Given the description of an element on the screen output the (x, y) to click on. 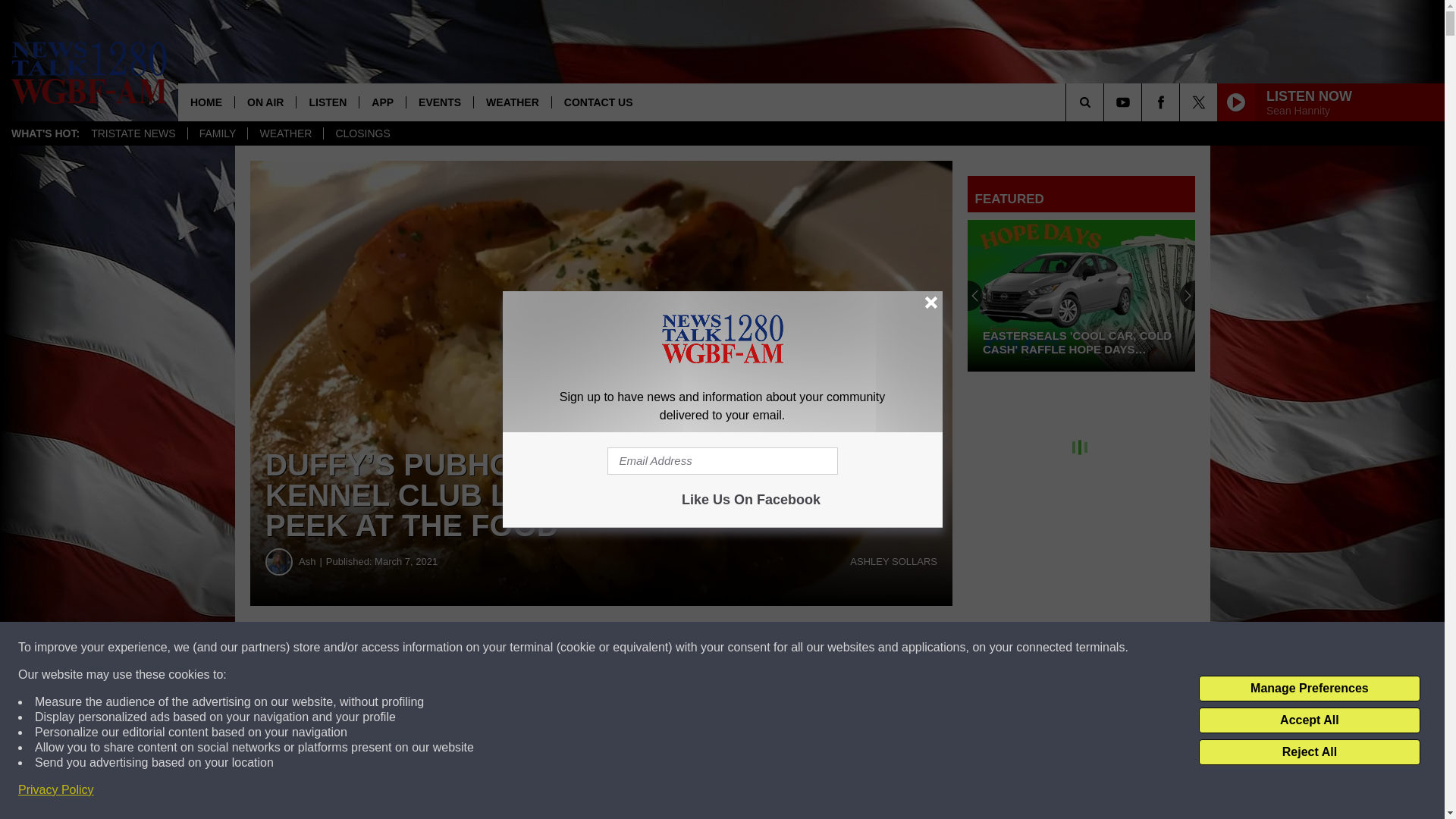
SEARCH (1106, 102)
Reject All (1309, 751)
CONTACT US (598, 102)
Accept All (1309, 720)
HOME (205, 102)
CLOSINGS (362, 133)
WEATHER (512, 102)
SEARCH (1106, 102)
FAMILY (217, 133)
ON AIR (264, 102)
APP (382, 102)
LISTEN (326, 102)
TRISTATE NEWS (133, 133)
EVENTS (439, 102)
Privacy Policy (55, 789)
